Given the description of an element on the screen output the (x, y) to click on. 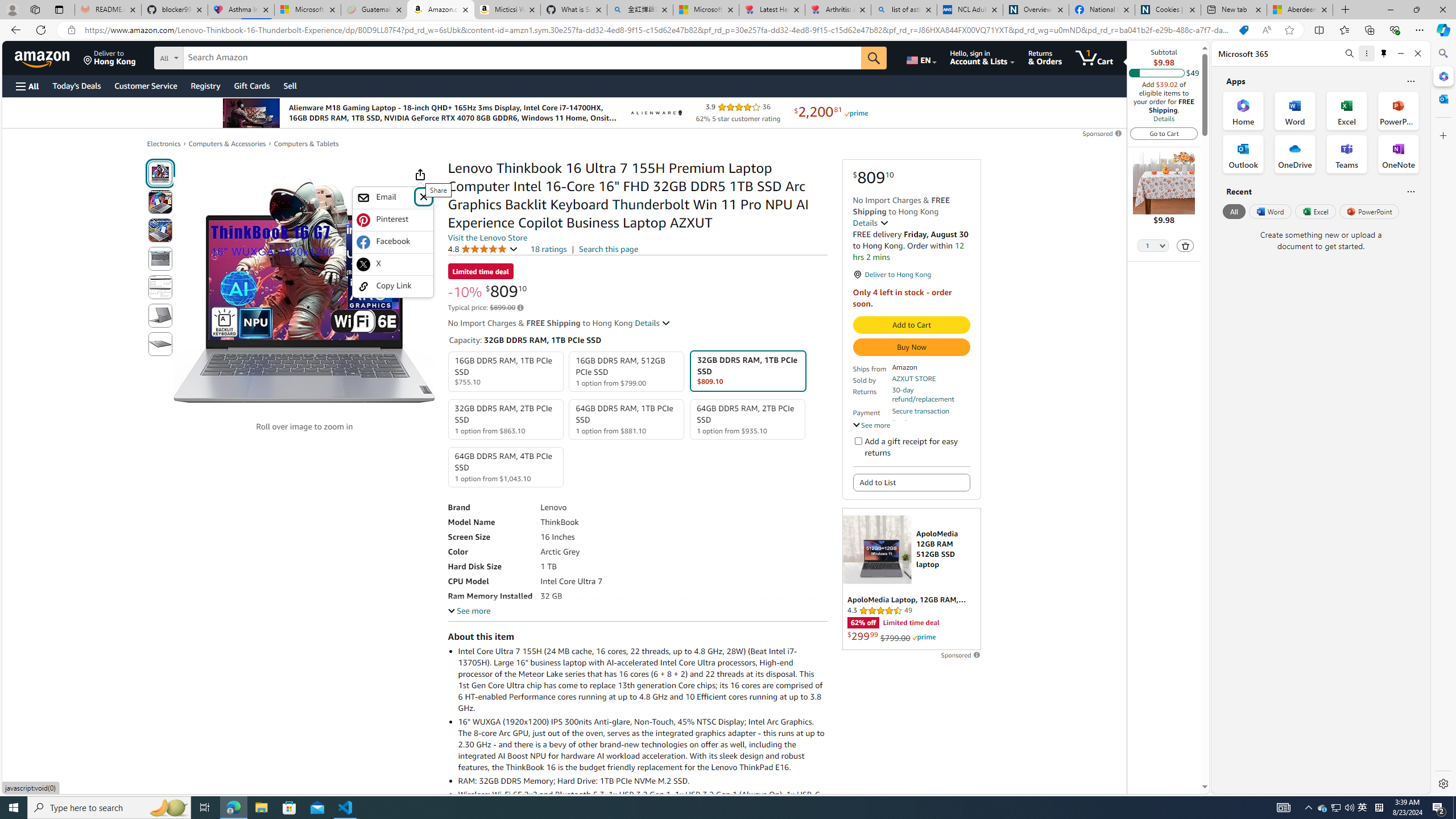
Amazon (43, 57)
